Given the description of an element on the screen output the (x, y) to click on. 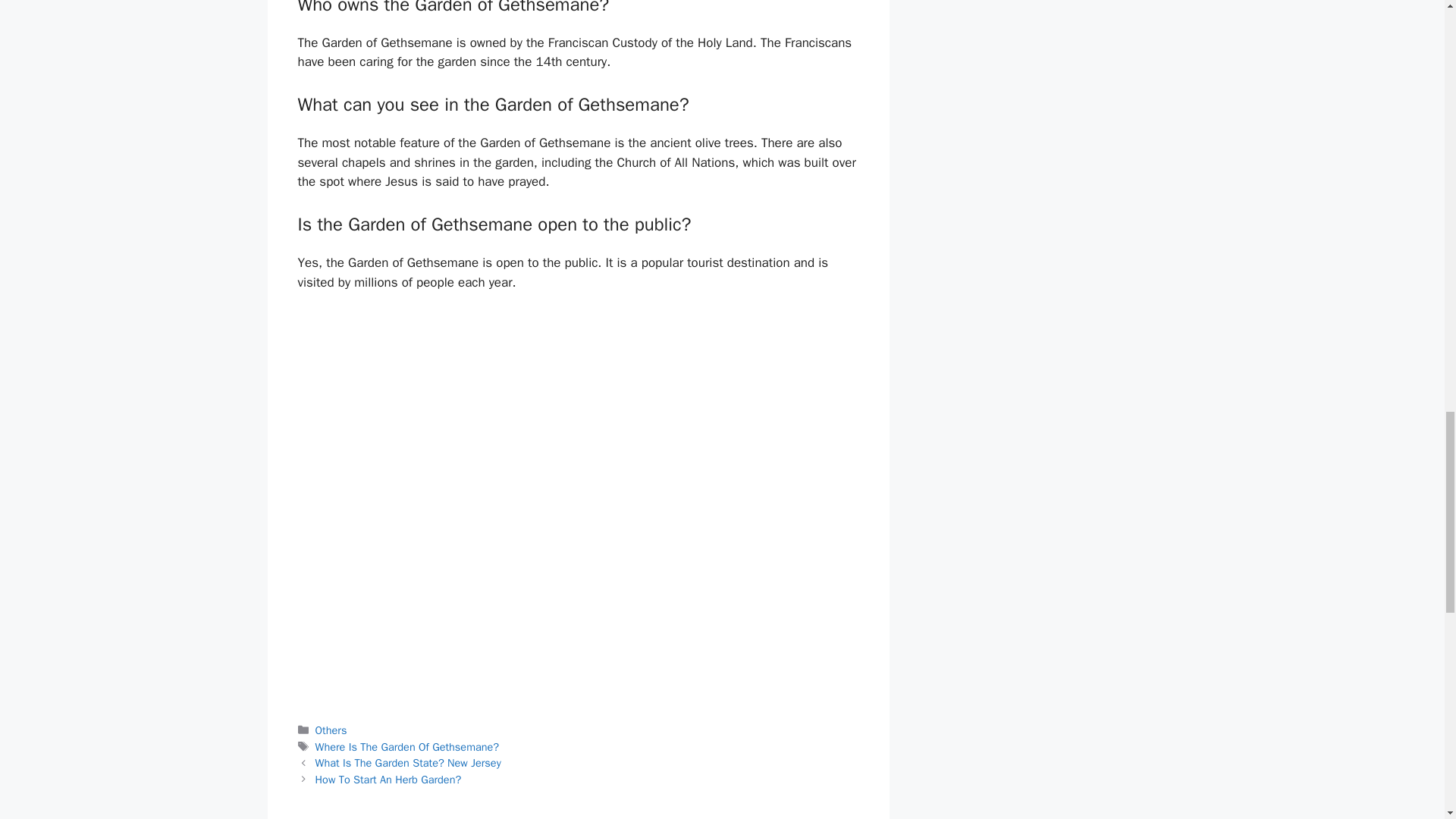
Where Is The Garden Of Gethsemane? (407, 746)
What Is The Garden State? New Jersey (407, 762)
How To Start An Herb Garden? (388, 779)
Others (331, 730)
